Given the description of an element on the screen output the (x, y) to click on. 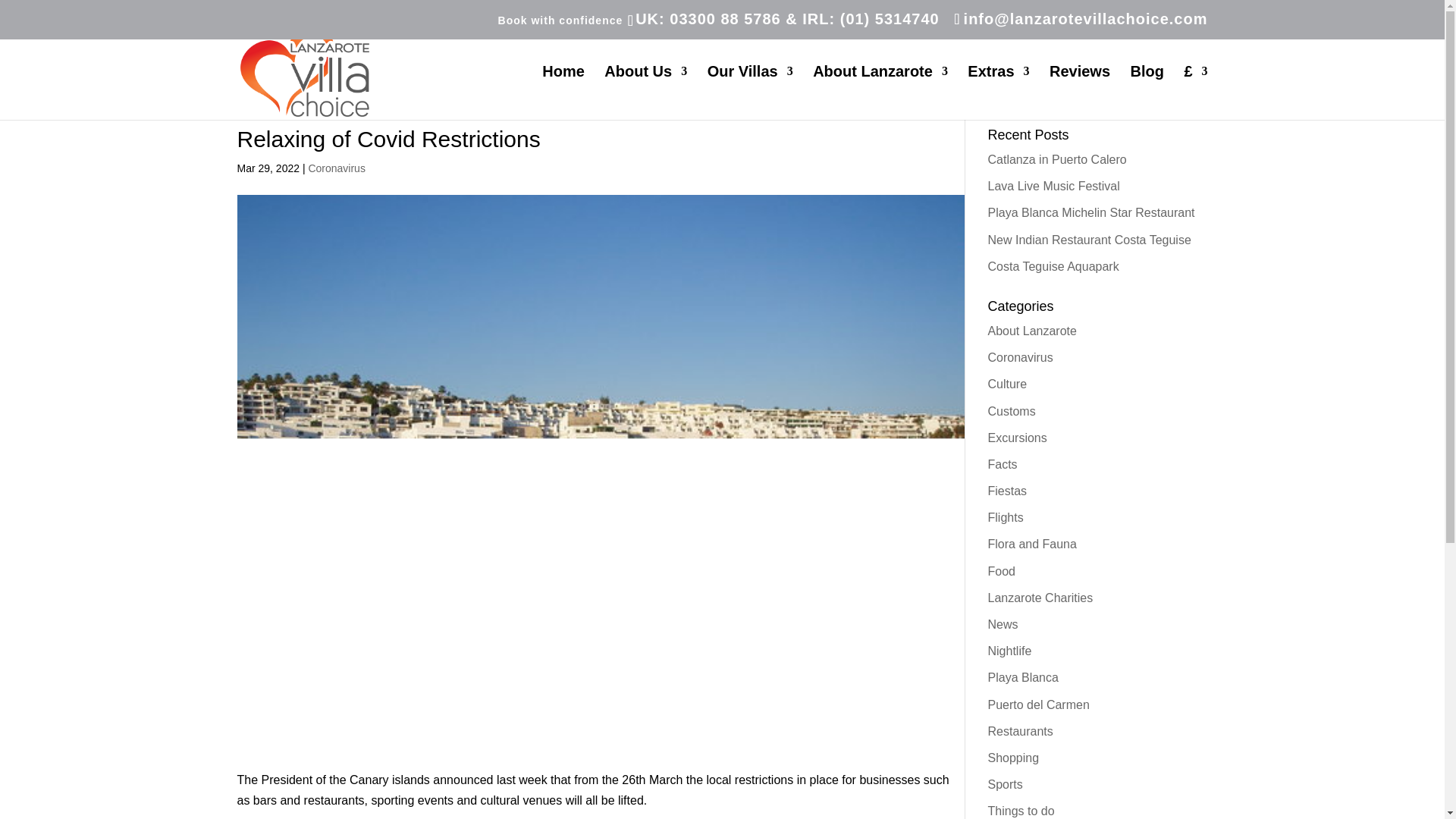
About Lanzarote (879, 92)
Extras (998, 92)
About Us (645, 92)
Reviews (1079, 92)
Our Villas (750, 92)
